Given the description of an element on the screen output the (x, y) to click on. 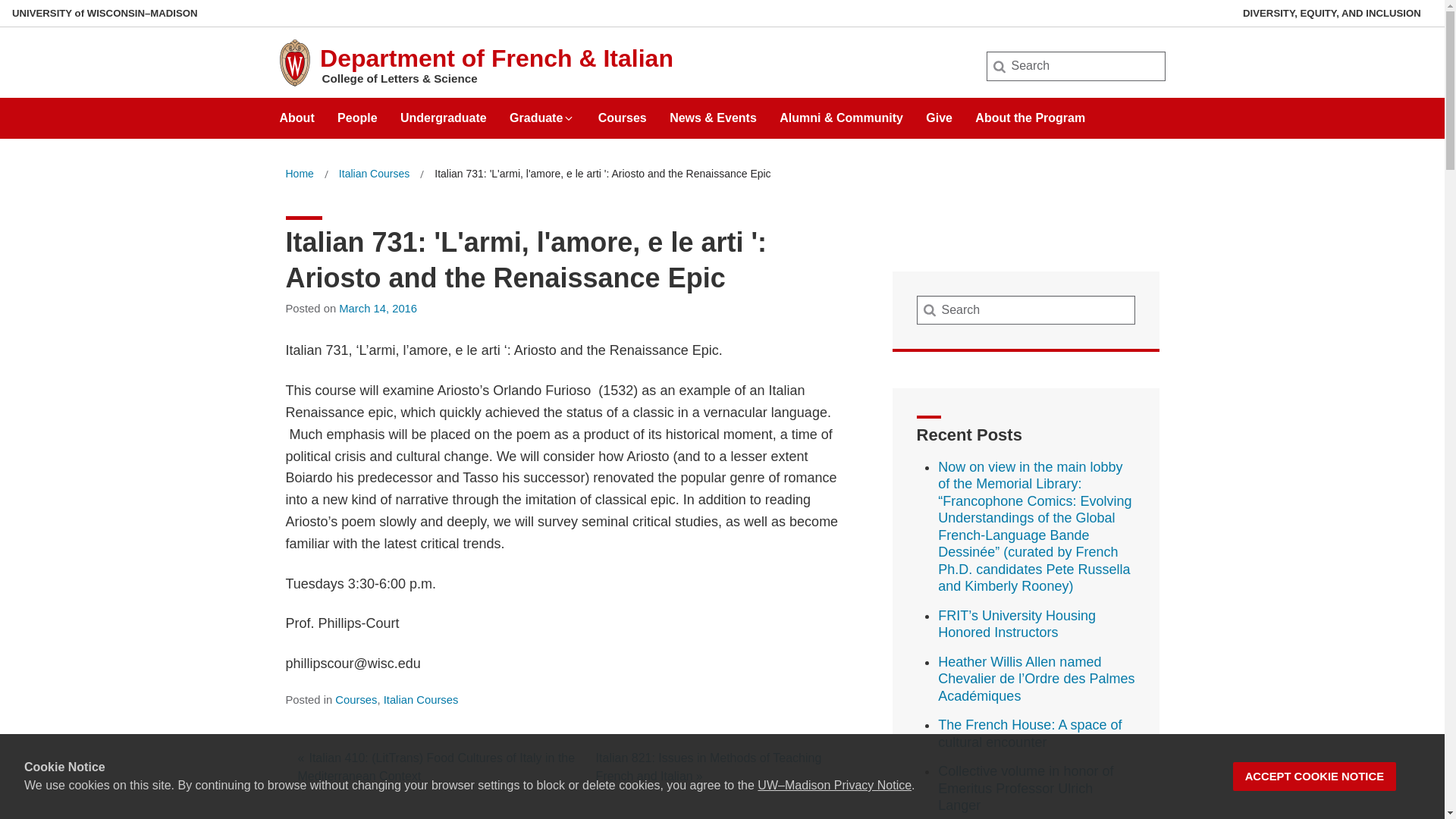
Skip to main content (3, 3)
About the Program (1029, 112)
Home (299, 173)
ACCEPT COOKIE NOTICE (1314, 776)
Search (37, 16)
Italian Courses (421, 699)
Home (299, 173)
People (357, 112)
Italian Courses (374, 173)
Courses (622, 112)
About (296, 112)
DIVERSITY, EQUITY, AND INCLUSION (1332, 13)
